Given the description of an element on the screen output the (x, y) to click on. 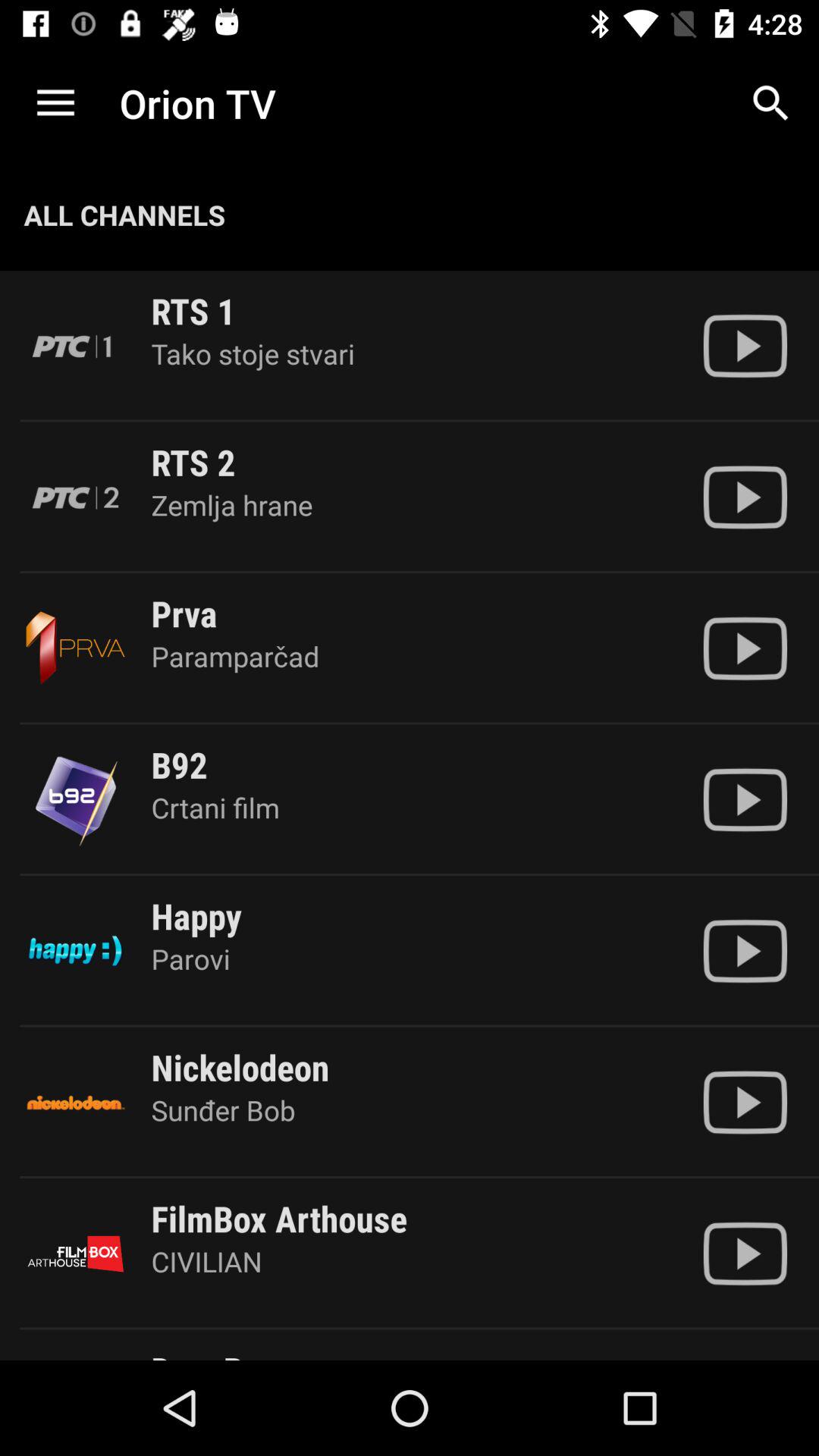
turn on the icon above all channels (55, 103)
